Given the description of an element on the screen output the (x, y) to click on. 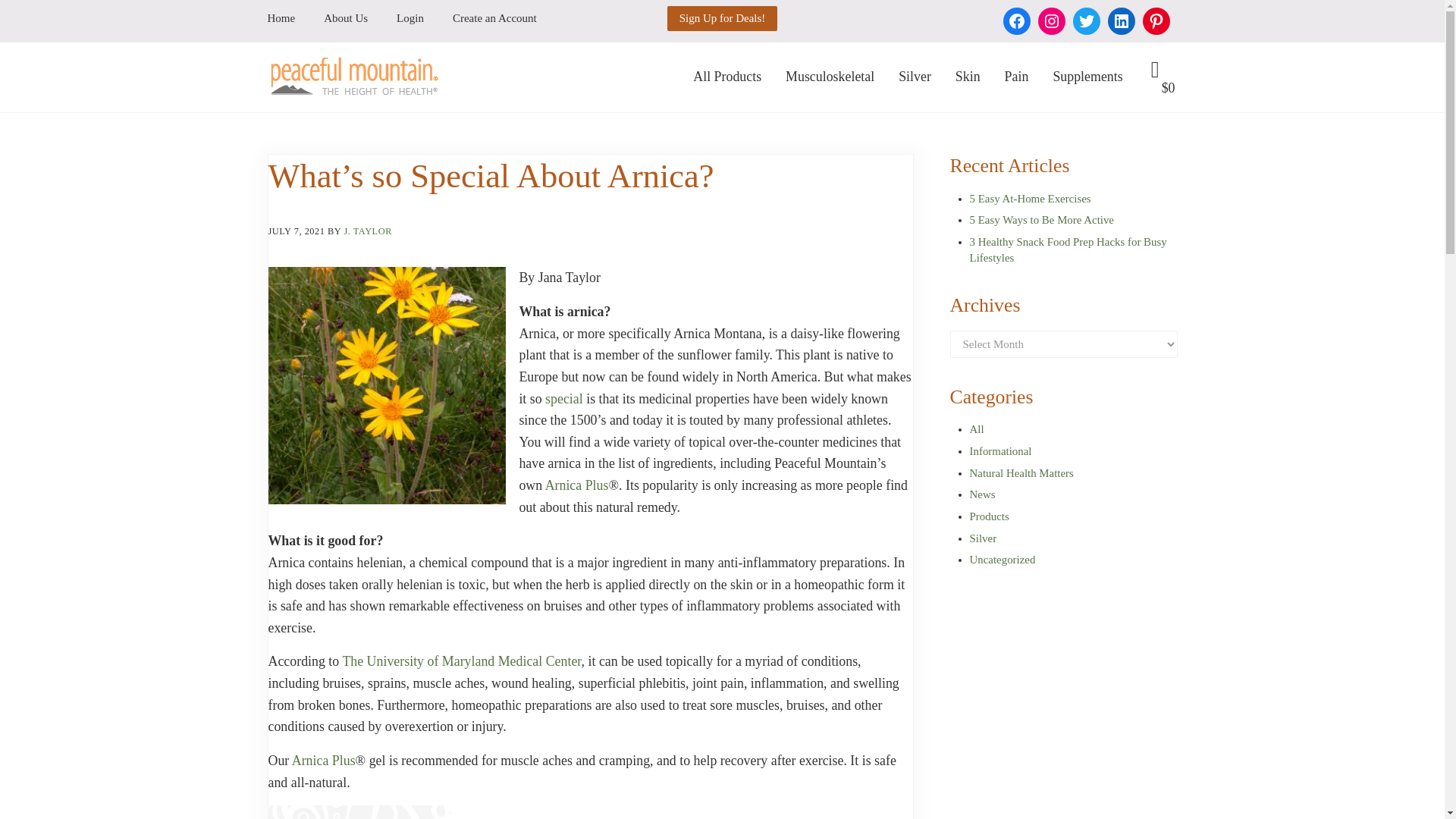
Login (409, 18)
Skin (967, 76)
Supplements (1087, 76)
Create an Account (489, 18)
Musculoskeletal (829, 76)
Twitter (1085, 21)
Home (286, 18)
About Us (345, 18)
Arnica Plus (576, 485)
Facebook (1016, 21)
LinkedIn (1120, 21)
Arnica Plus (323, 760)
Pain (1016, 76)
Sign Up for Deals! (721, 18)
